Given the description of an element on the screen output the (x, y) to click on. 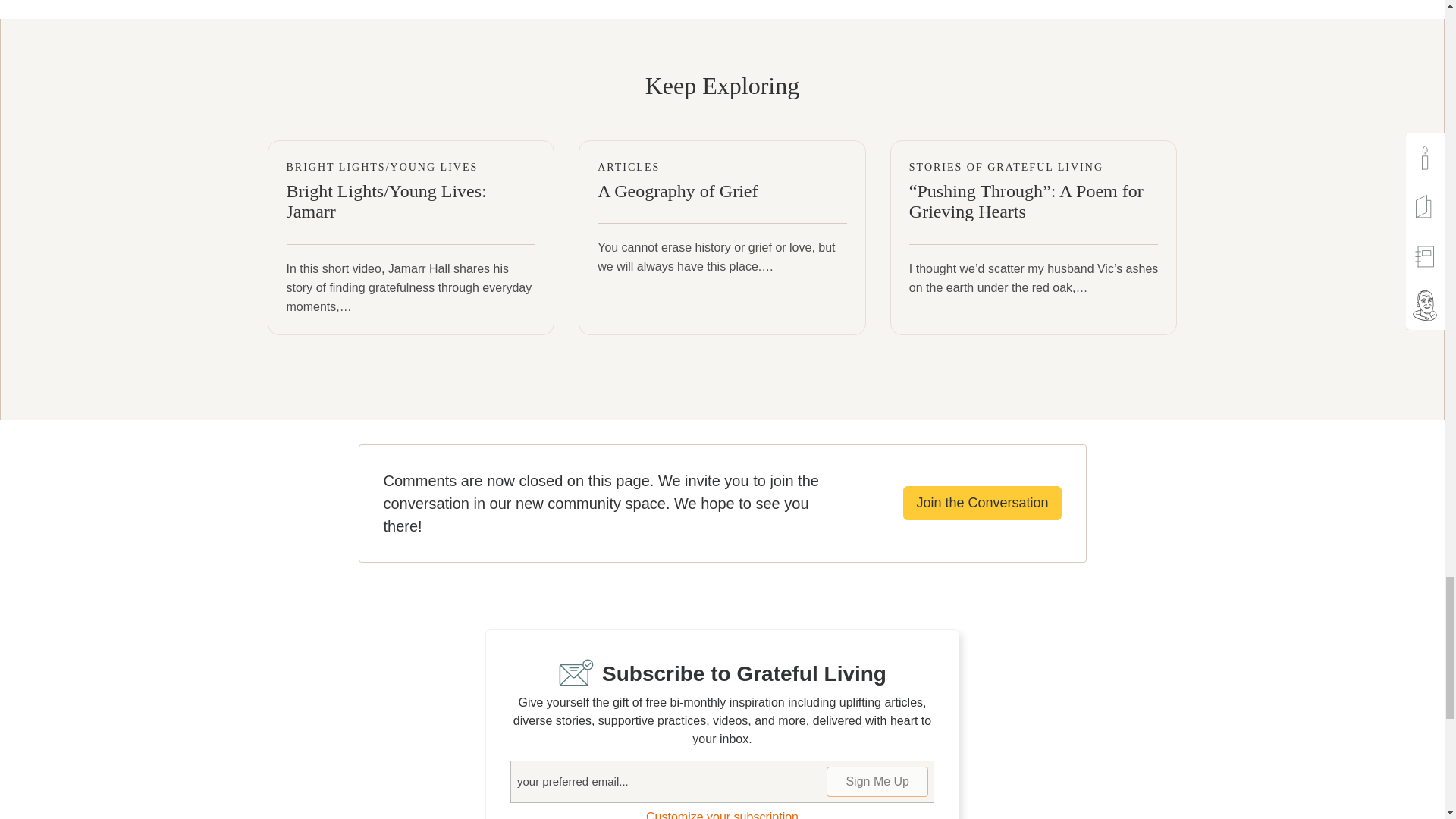
A Geography of Grief (721, 237)
Sign Me Up (877, 781)
Sign Me Up (877, 781)
Join the Conversation (981, 503)
